Given the description of an element on the screen output the (x, y) to click on. 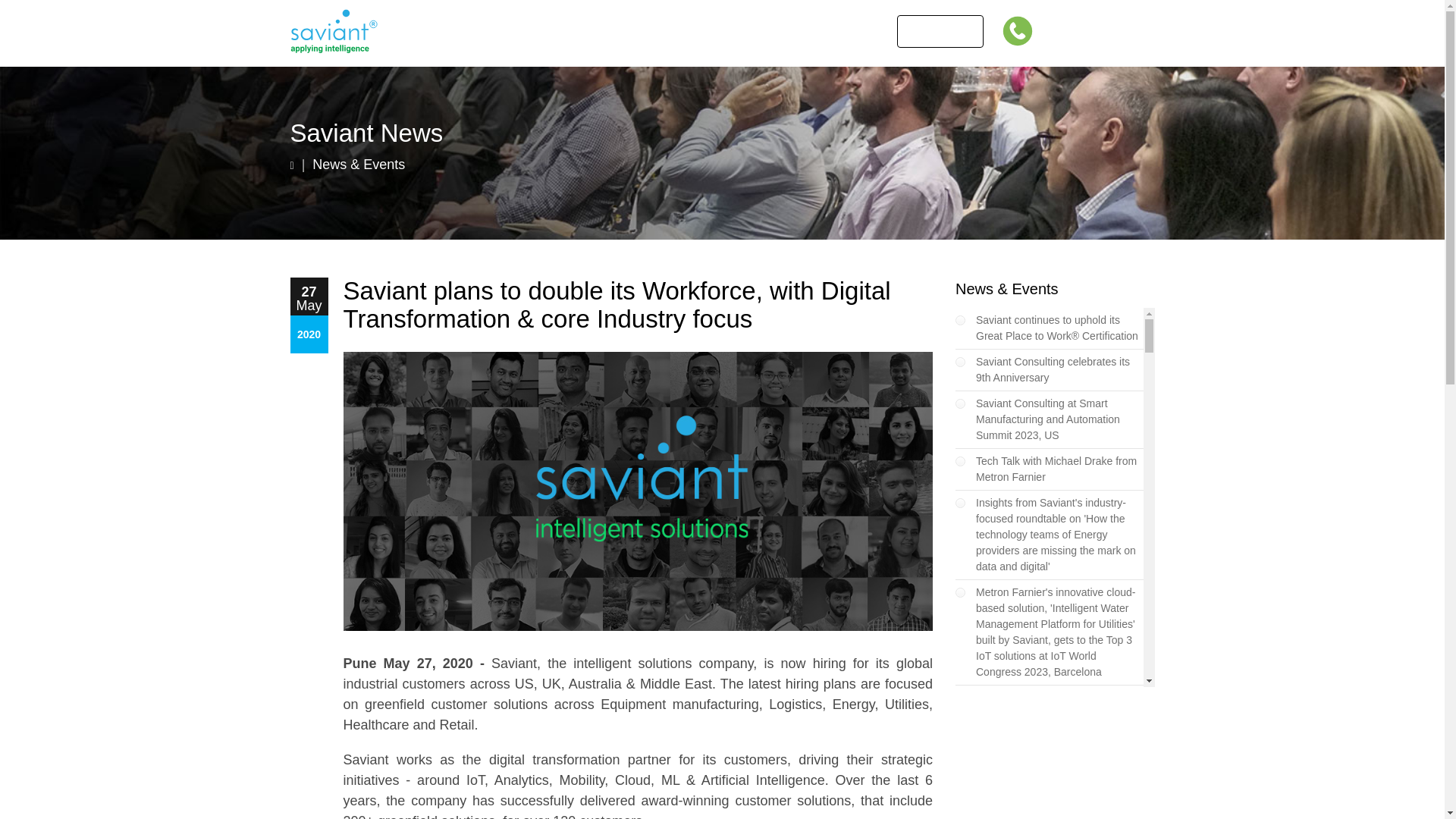
Tech Talk with Michael Drake from Metron Farnier (1056, 469)
about us (444, 31)
customers (534, 31)
careers (811, 31)
why saviant (719, 31)
contact us (940, 31)
